Given the description of an element on the screen output the (x, y) to click on. 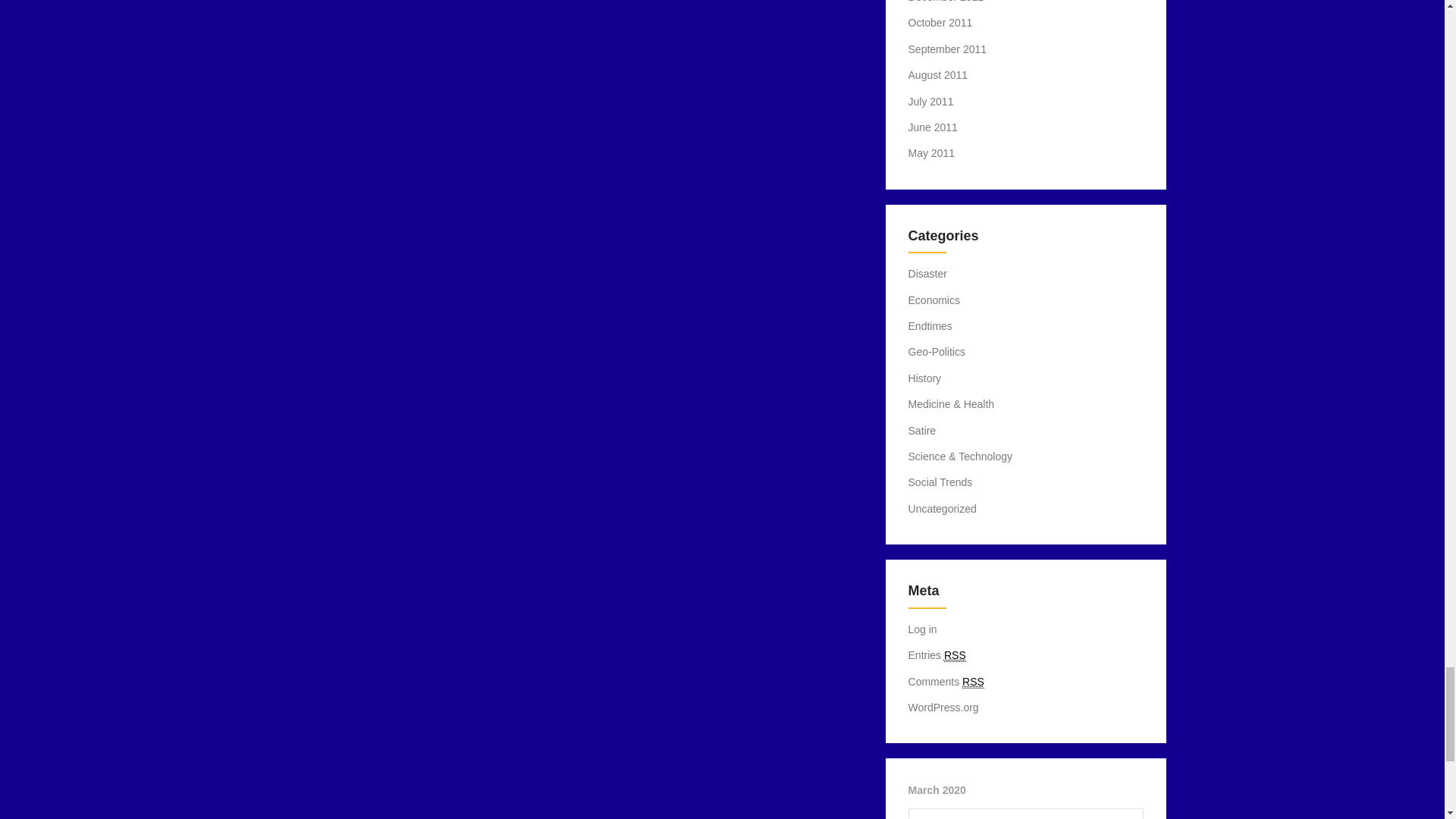
Friday (1058, 814)
Sunday (1125, 814)
Monday (925, 814)
Thursday (1025, 814)
Saturday (1091, 814)
Really Simple Syndication (973, 681)
Wednesday (992, 814)
Tuesday (958, 814)
Really Simple Syndication (954, 655)
